Given the description of an element on the screen output the (x, y) to click on. 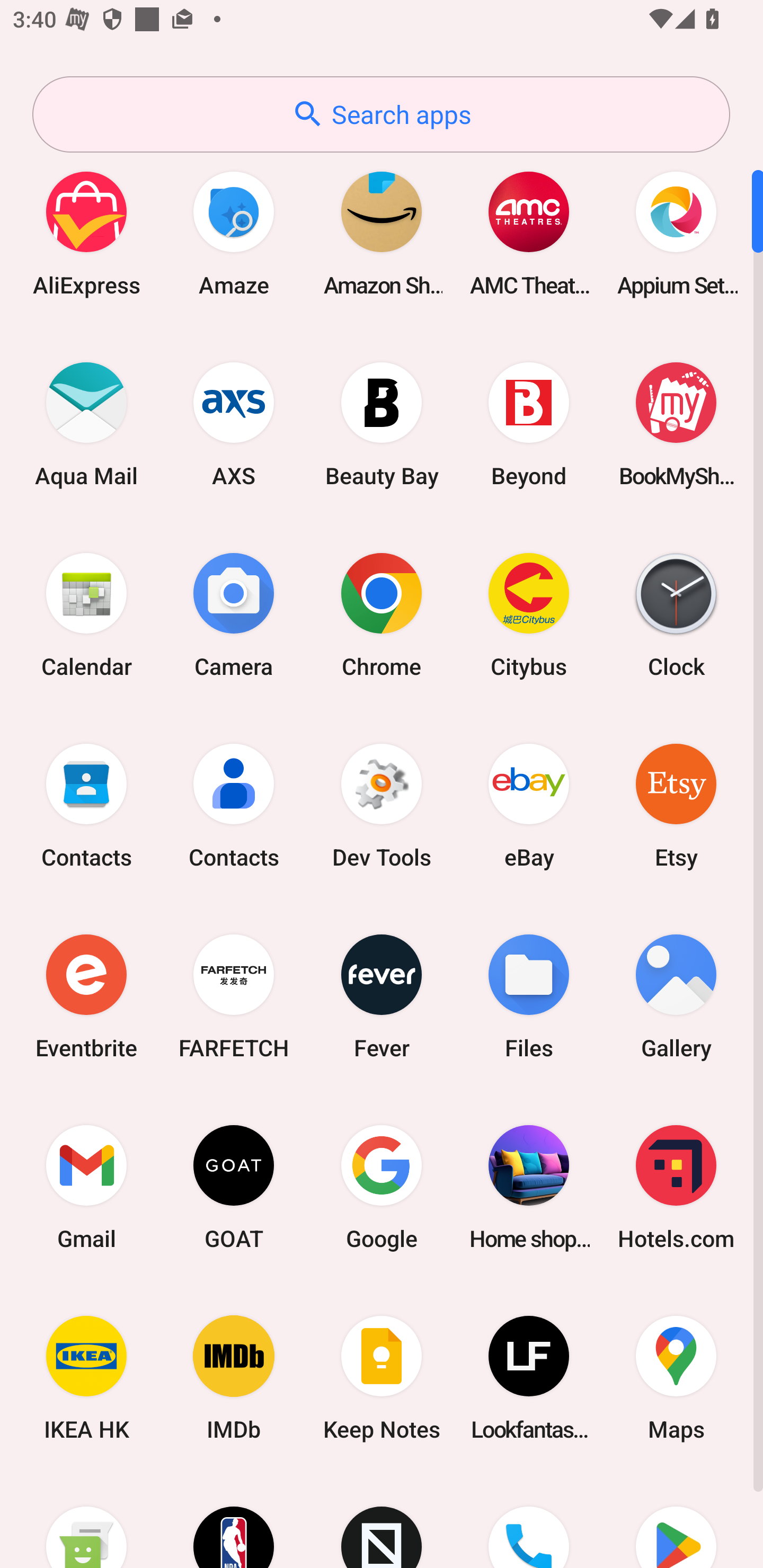
  Search apps (381, 114)
AliExpress (86, 233)
Amaze (233, 233)
Amazon Shopping (381, 233)
AMC Theatres (528, 233)
Appium Settings (676, 233)
Aqua Mail (86, 424)
AXS (233, 424)
Beauty Bay (381, 424)
Beyond (528, 424)
BookMyShow (676, 424)
Calendar (86, 614)
Camera (233, 614)
Chrome (381, 614)
Citybus (528, 614)
Clock (676, 614)
Contacts (86, 805)
Contacts (233, 805)
Dev Tools (381, 805)
eBay (528, 805)
Etsy (676, 805)
Eventbrite (86, 996)
FARFETCH (233, 996)
Fever (381, 996)
Files (528, 996)
Gallery (676, 996)
Gmail (86, 1186)
GOAT (233, 1186)
Google (381, 1186)
Home shopping (528, 1186)
Hotels.com (676, 1186)
IKEA HK (86, 1377)
IMDb (233, 1377)
Keep Notes (381, 1377)
Lookfantastic (528, 1377)
Maps (676, 1377)
